Given the description of an element on the screen output the (x, y) to click on. 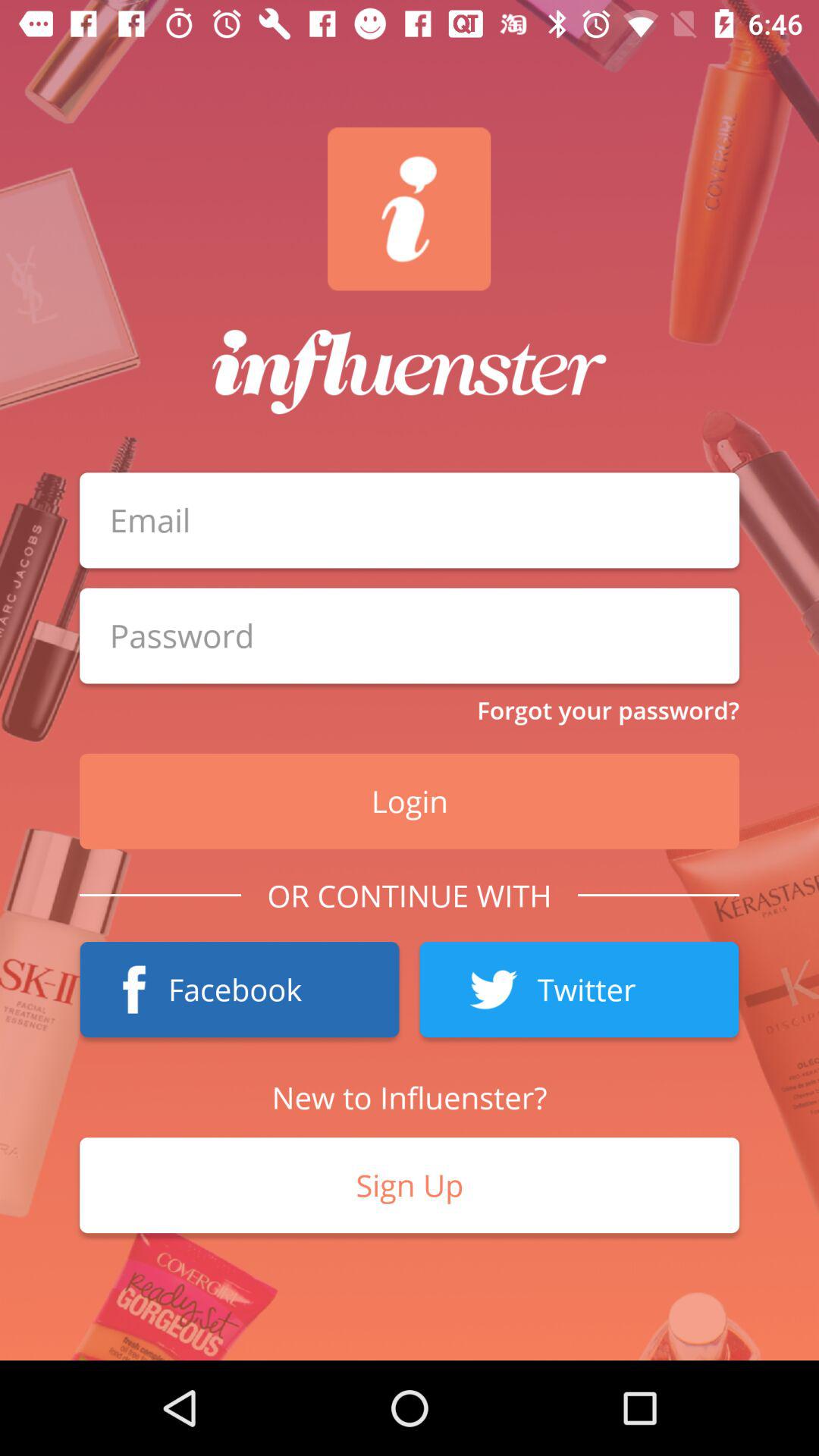
put email (409, 520)
